Given the description of an element on the screen output the (x, y) to click on. 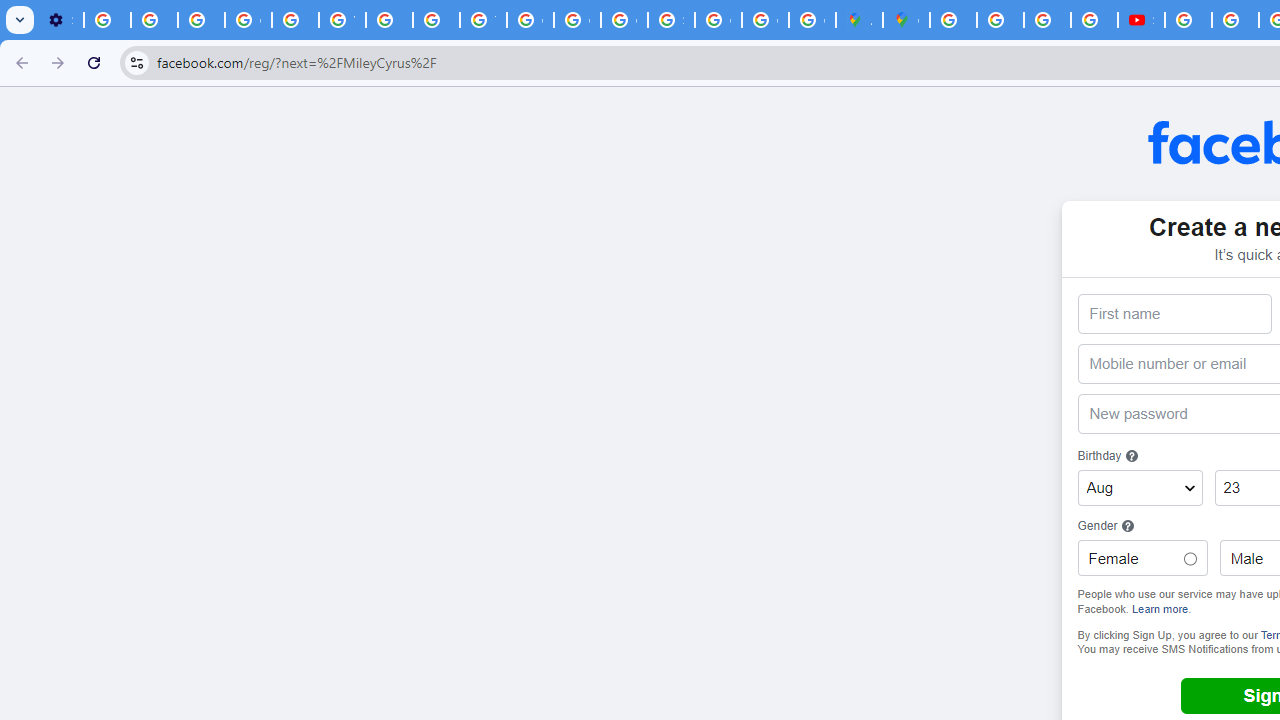
YouTube (342, 20)
Forward (57, 62)
Sign in - Google Accounts (671, 20)
Delete photos & videos - Computer - Google Photos Help (107, 20)
